Given the description of an element on the screen output the (x, y) to click on. 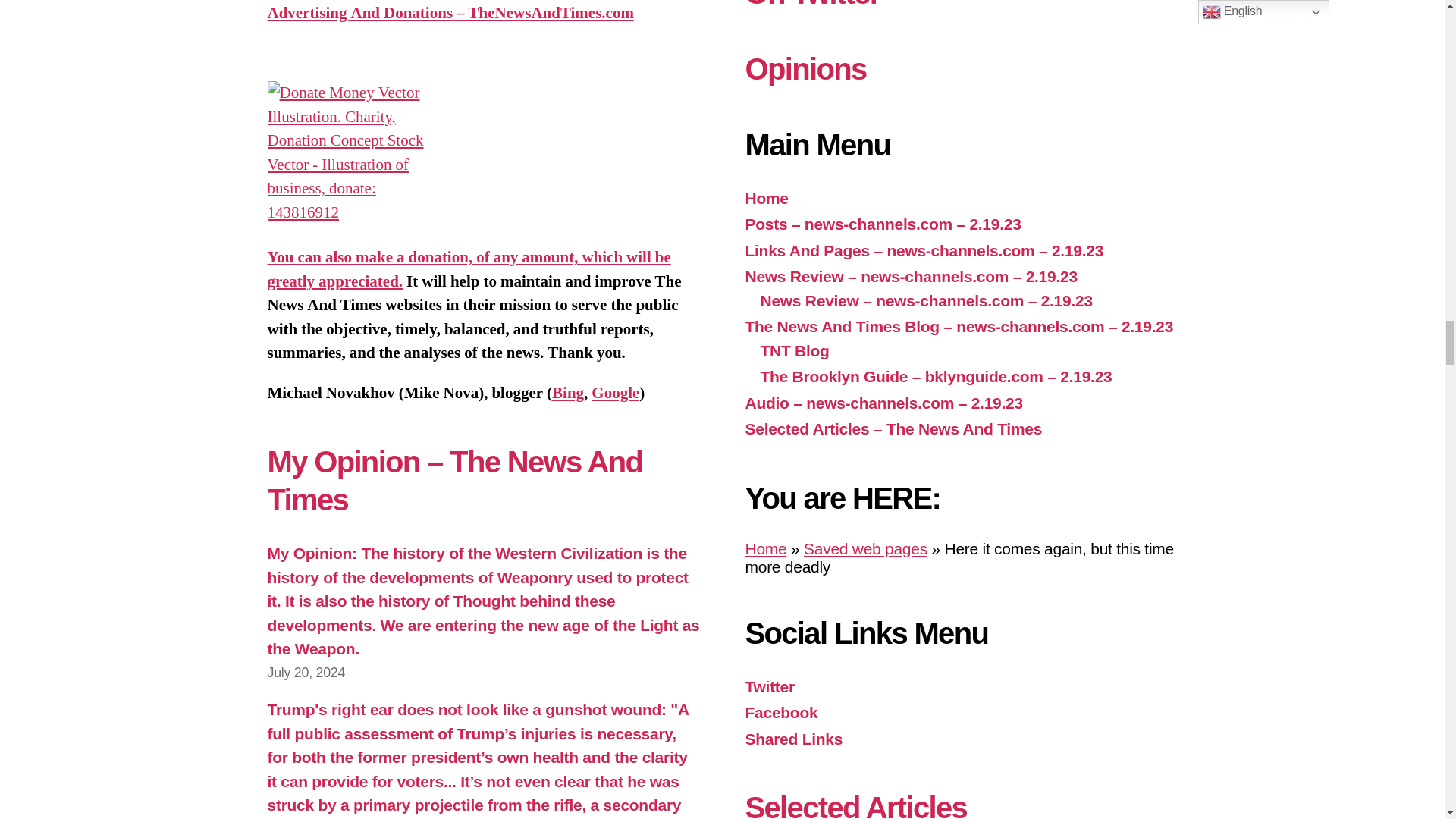
Saved web pages (865, 548)
Home (765, 548)
